Given the description of an element on the screen output the (x, y) to click on. 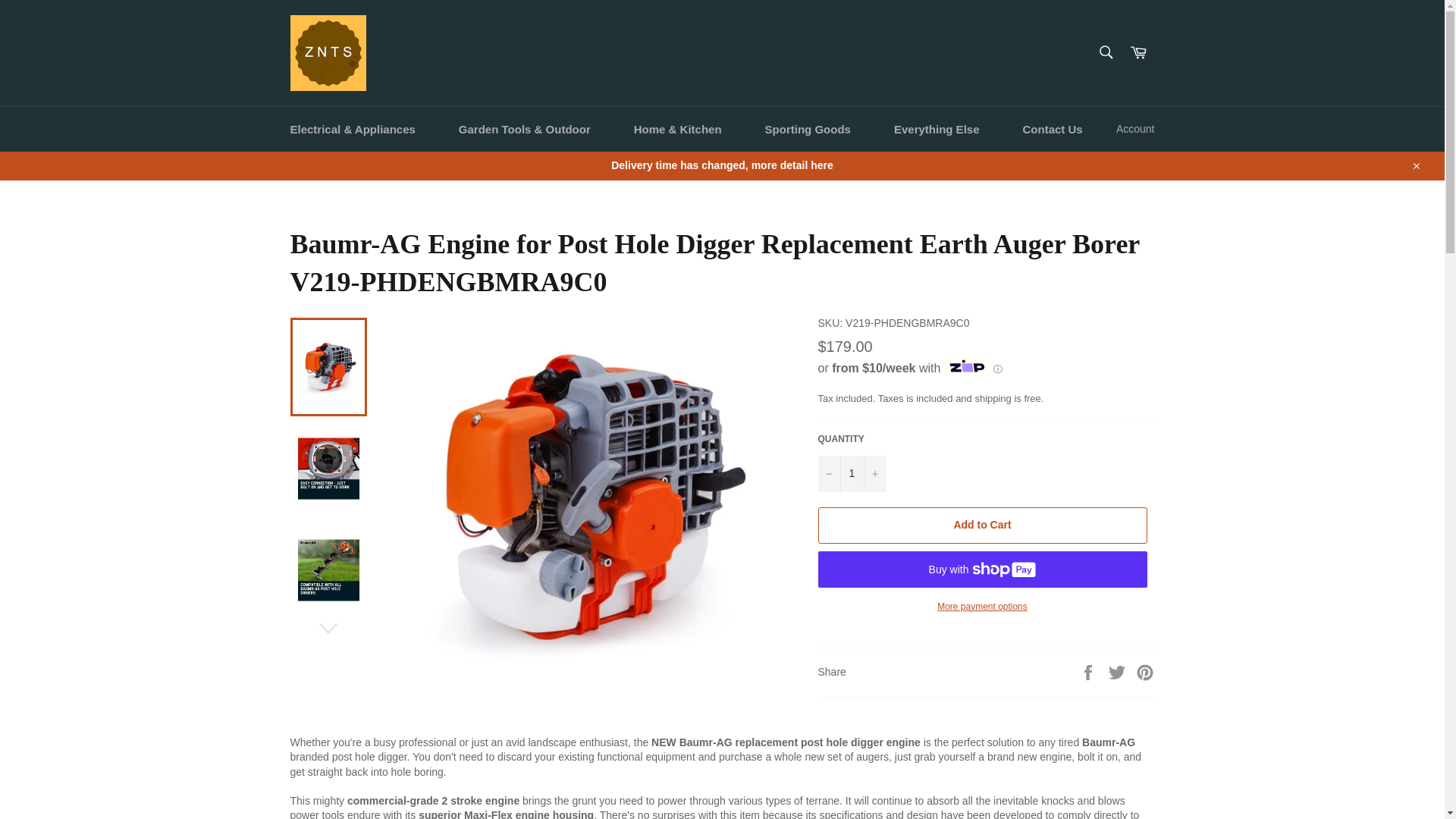
Share on Facebook (1089, 671)
1 (850, 473)
Pin on Pinterest (1144, 671)
Tweet on Twitter (1118, 671)
